Given the description of an element on the screen output the (x, y) to click on. 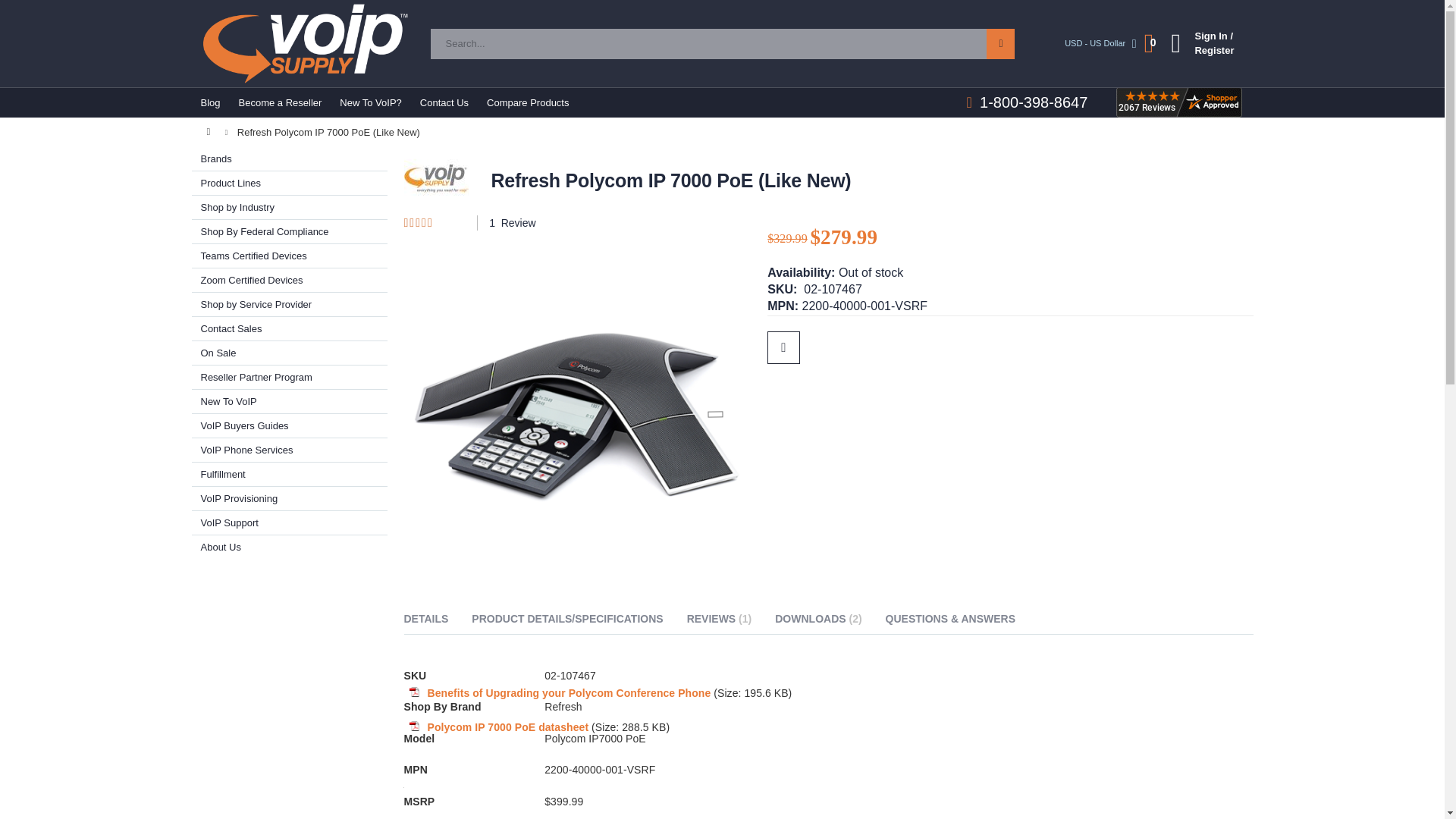
VoipSupply.com - Everything you need for VoIP! (305, 43)
Blog (209, 102)
Polycom IP 7000 PoE datasheet (507, 727)
Polycom IP 7000 PoE datasheet (507, 727)
My Account (1199, 43)
New To VoIP? (370, 102)
Benefits of Upgrading your Polycom Conference Phone (568, 693)
Add to Wish List (783, 347)
Compare Products (527, 102)
1  Review (507, 222)
Search (1000, 43)
Benefits of Upgrading your Polycom Conference Phone (568, 693)
DOWNLOADS 2 (817, 620)
Become a Reseller (280, 102)
Contact Us (443, 102)
